Given the description of an element on the screen output the (x, y) to click on. 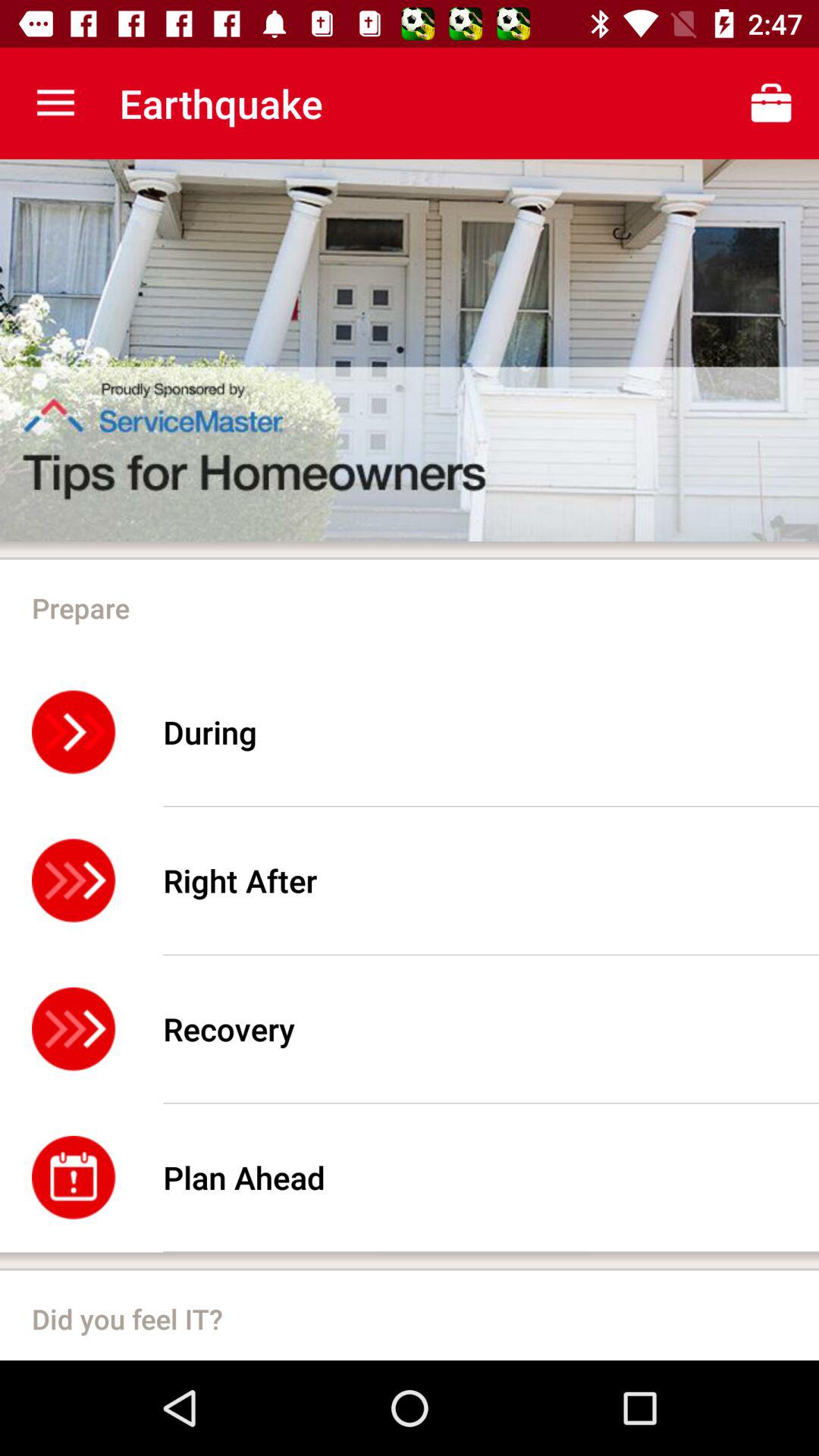
click on the icon beside recovery (73, 1028)
click on icon on top right corner next to earthquake (771, 103)
